Given the description of an element on the screen output the (x, y) to click on. 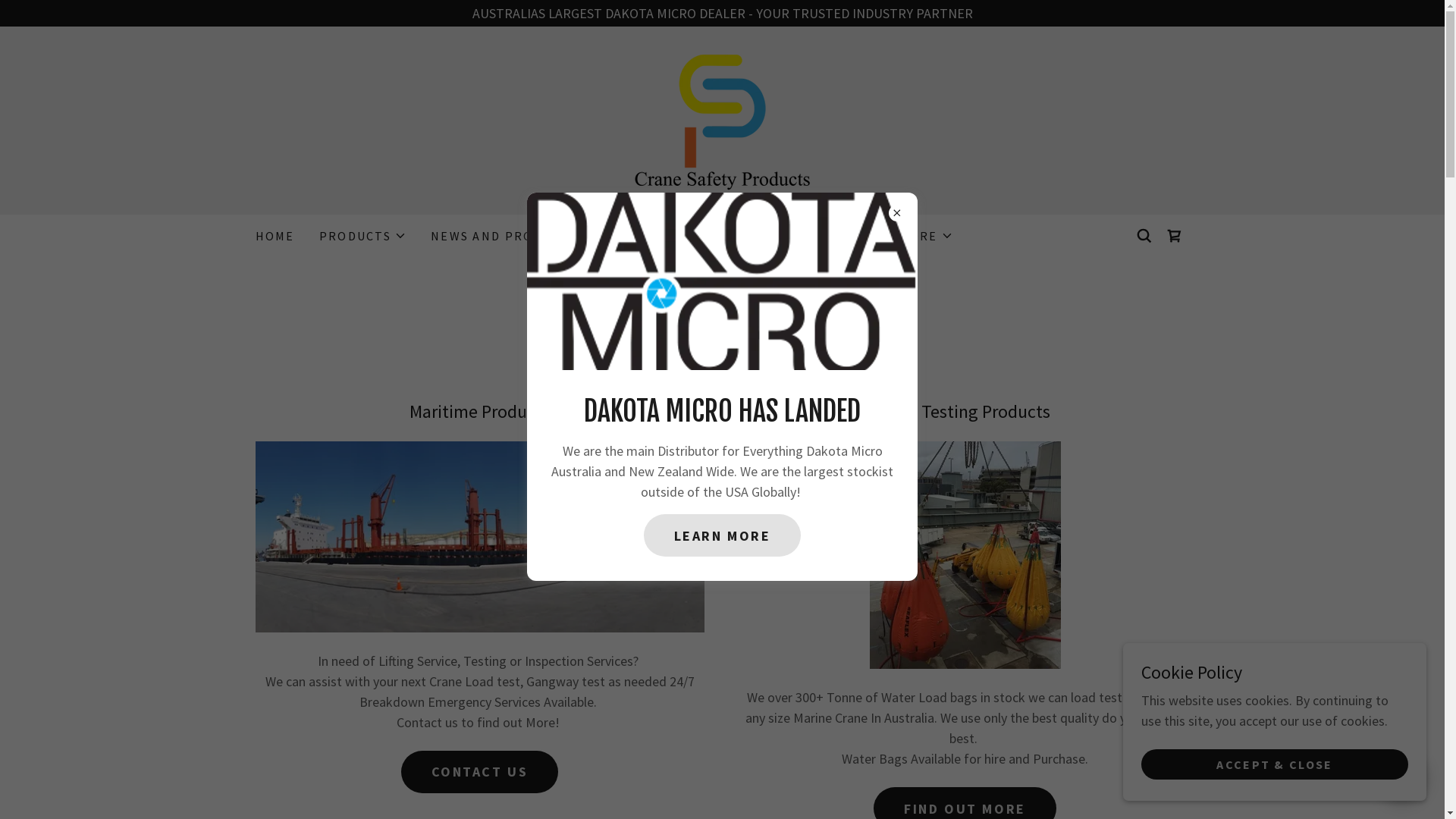
Crane Safety Products Element type: hover (721, 118)
GALLERY Element type: text (627, 235)
ACCEPT & CLOSE Element type: text (1274, 764)
PRODUCTS Element type: text (362, 235)
DOWNLOADS Element type: text (723, 235)
NEWS AND PROJECTS Element type: text (502, 235)
CONTACT US Element type: text (832, 235)
HOME Element type: text (274, 235)
CONTACT US Element type: text (479, 771)
LEARN MORE Element type: text (722, 535)
MORE Element type: text (925, 235)
